Given the description of an element on the screen output the (x, y) to click on. 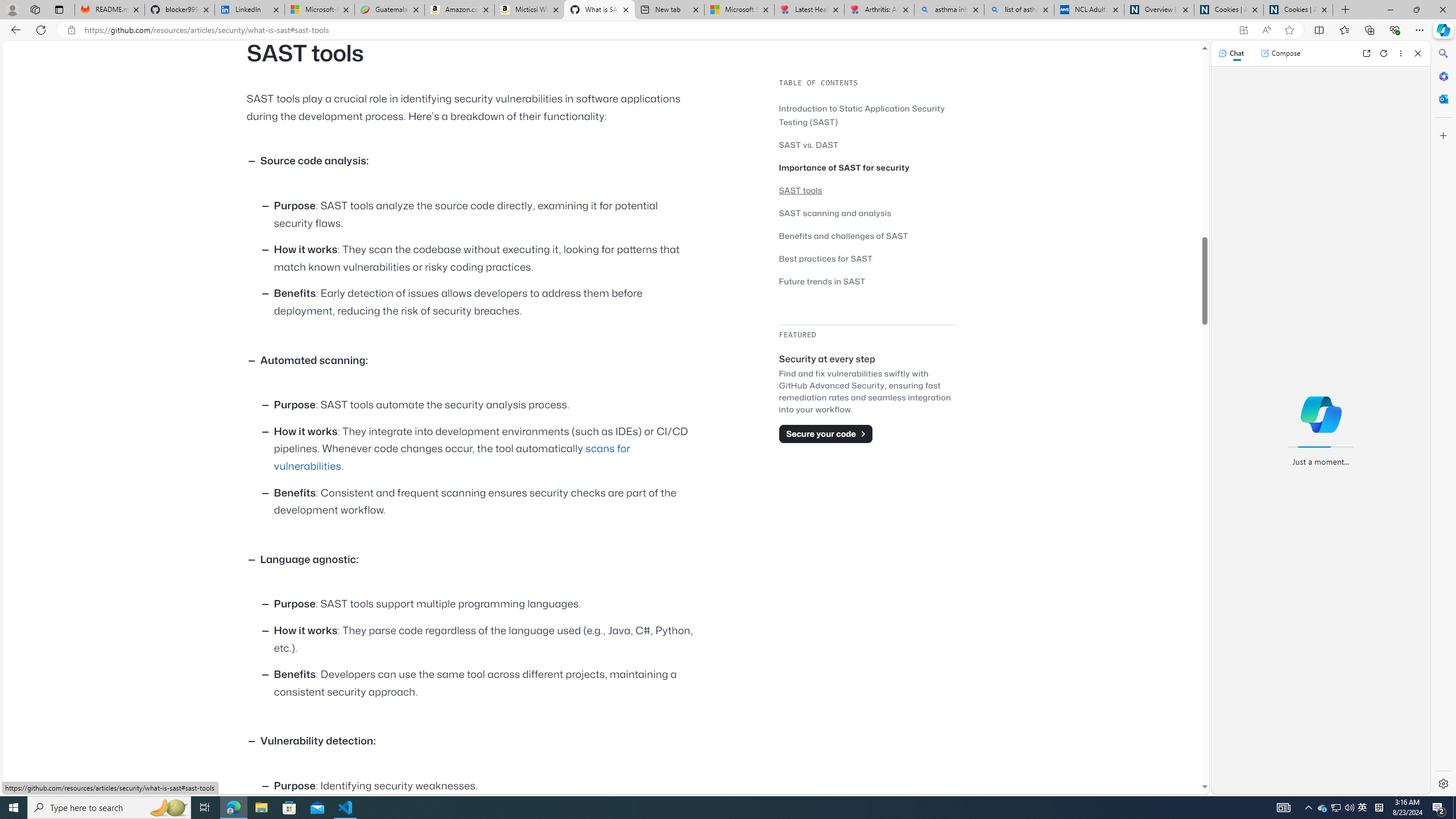
Purpose: Identifying security weaknesses. (485, 786)
asthma inhaler - Search (949, 9)
Benefits and challenges of SAST (867, 235)
Future trends in SAST (867, 281)
Secure your code (825, 433)
